Given the description of an element on the screen output the (x, y) to click on. 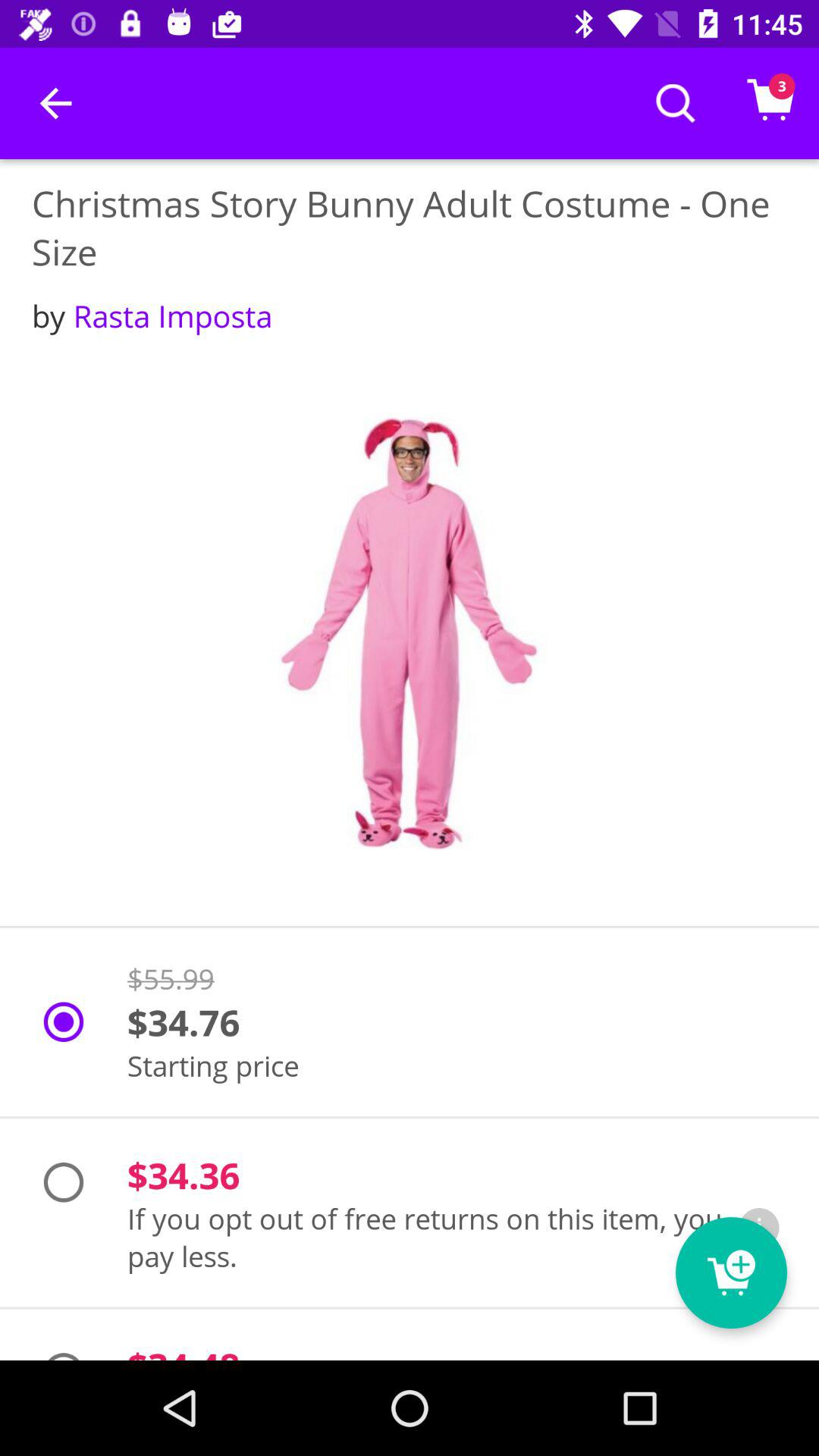
add to cart (731, 1272)
